Given the description of an element on the screen output the (x, y) to click on. 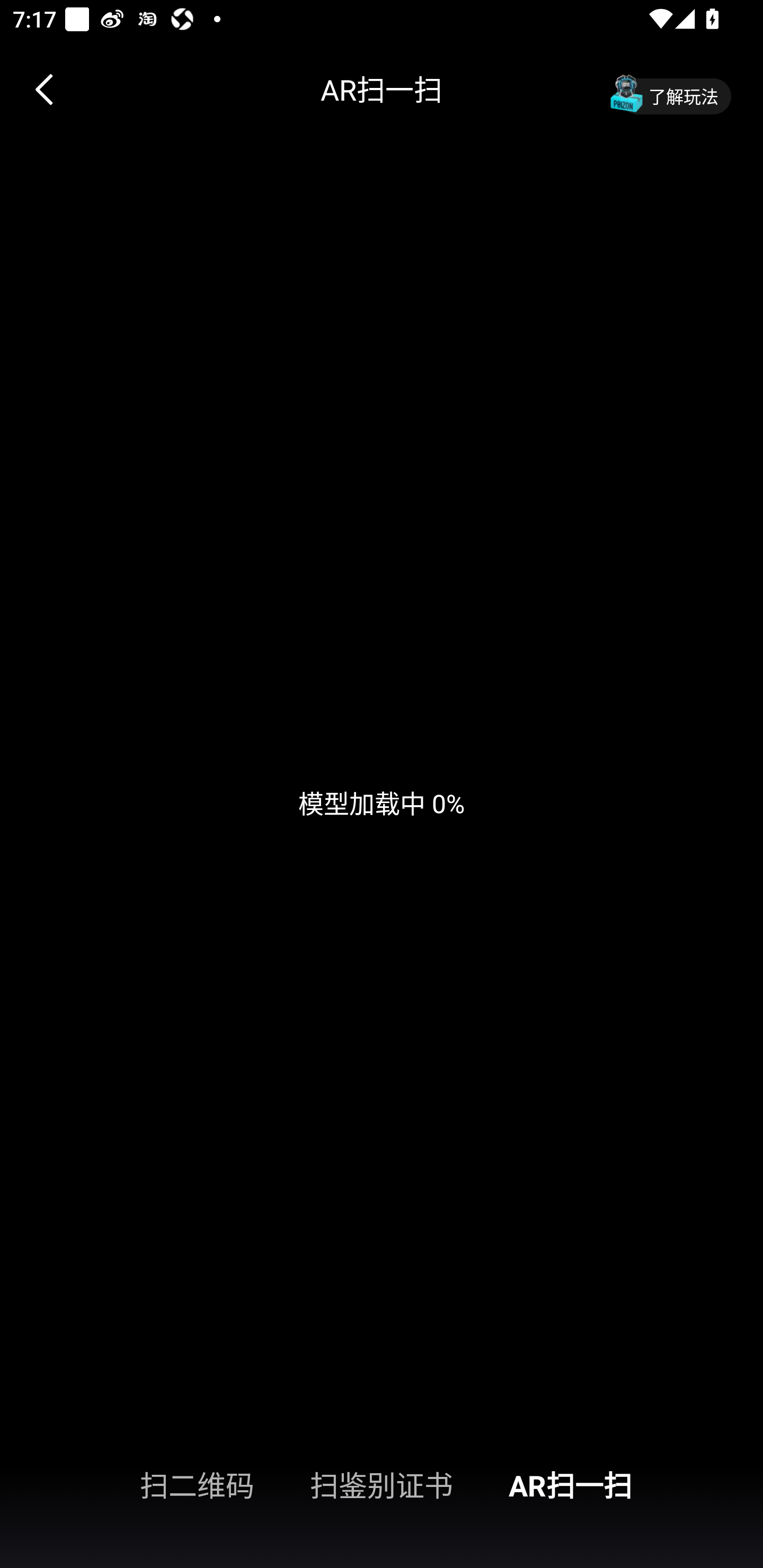
了解玩法 (665, 89)
 (51, 89)
扫二维码 (127, 1484)
扫鉴别证书 (381, 1484)
AR扫一扫 (635, 1484)
